Given the description of an element on the screen output the (x, y) to click on. 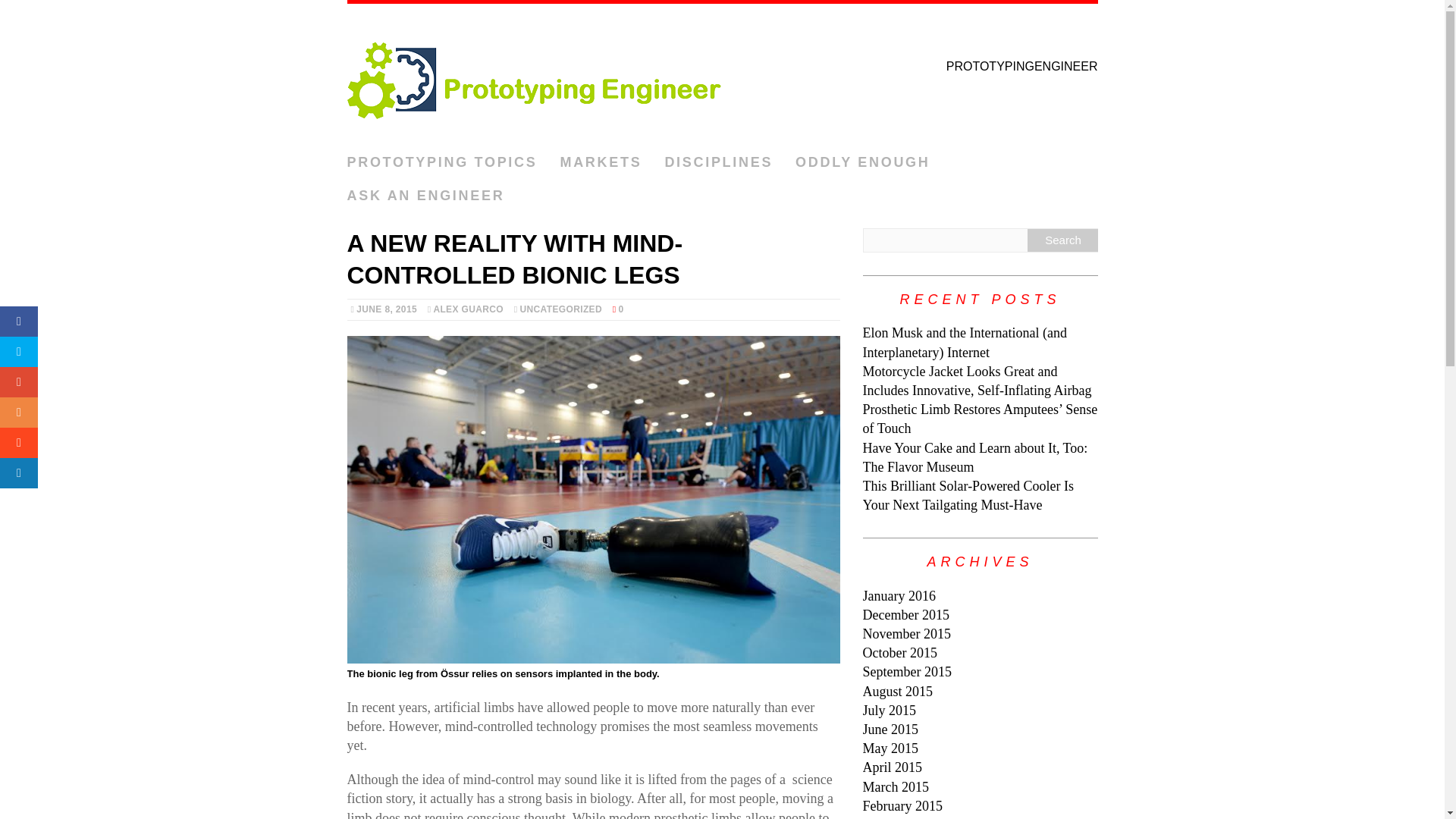
ALEX GUARCO (467, 308)
PROTOTYPINGENGINEER (722, 75)
PROTOTYPING TOPICS (442, 162)
ODDLY ENOUGH (862, 162)
Posts by Alex Guarco (467, 308)
DISCIPLINES (718, 162)
ASK AN ENGINEER (426, 195)
Search (1062, 240)
Search (1062, 240)
PrototypingEngineer (722, 75)
MARKETS (600, 162)
UNCATEGORIZED (560, 308)
Have Your Cake and Learn about It, Too: The Flavor Museum (975, 457)
